Given the description of an element on the screen output the (x, y) to click on. 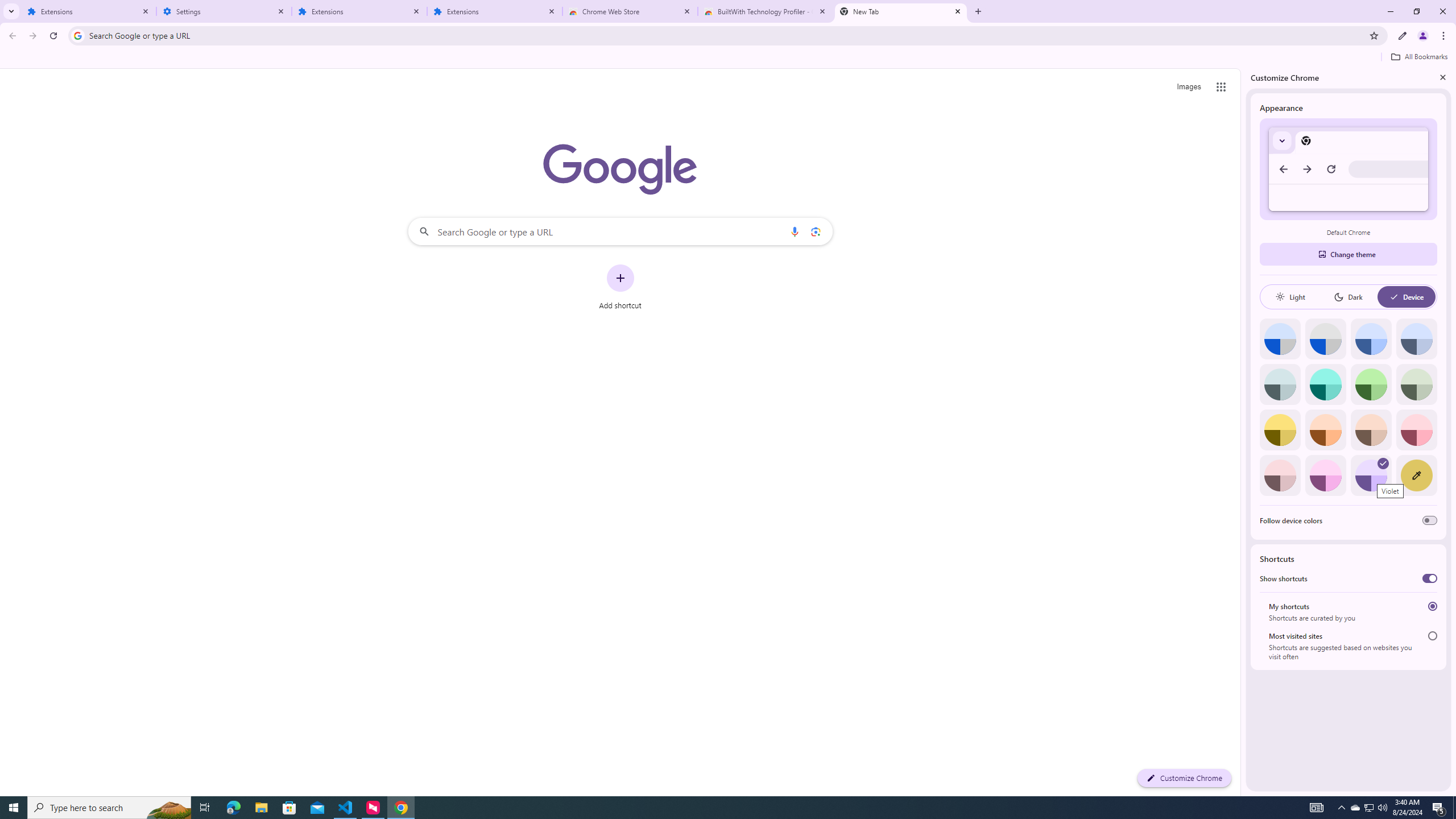
Search Google or type a URL (619, 230)
Fuchsia (1325, 475)
New Tab (901, 11)
Apricot (1371, 429)
Default Chrome (1348, 169)
Cool grey (1416, 338)
Dark (1348, 296)
Light (1289, 296)
My shortcuts (1432, 605)
